Given the description of an element on the screen output the (x, y) to click on. 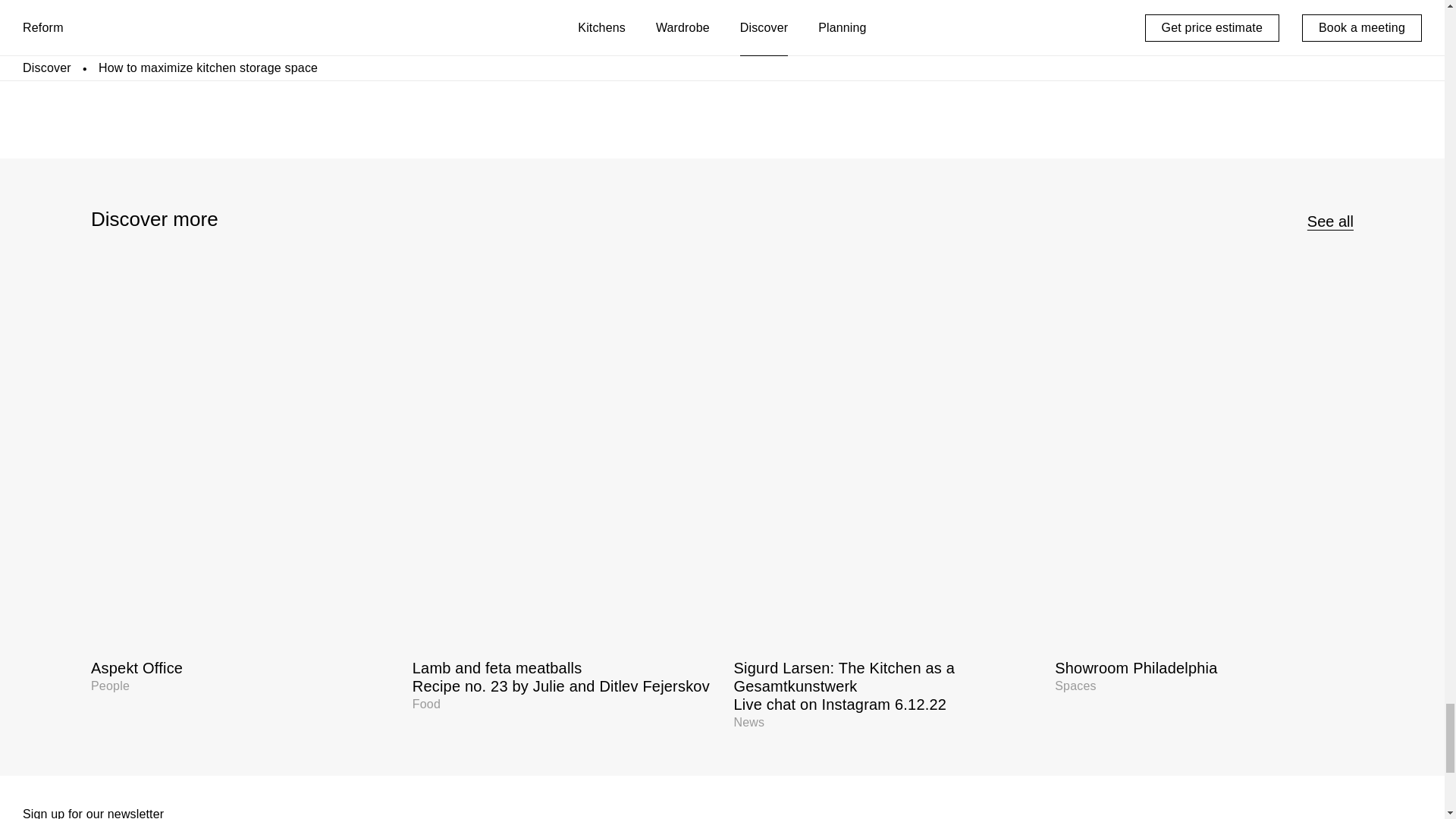
See all (1330, 221)
